Given the description of an element on the screen output the (x, y) to click on. 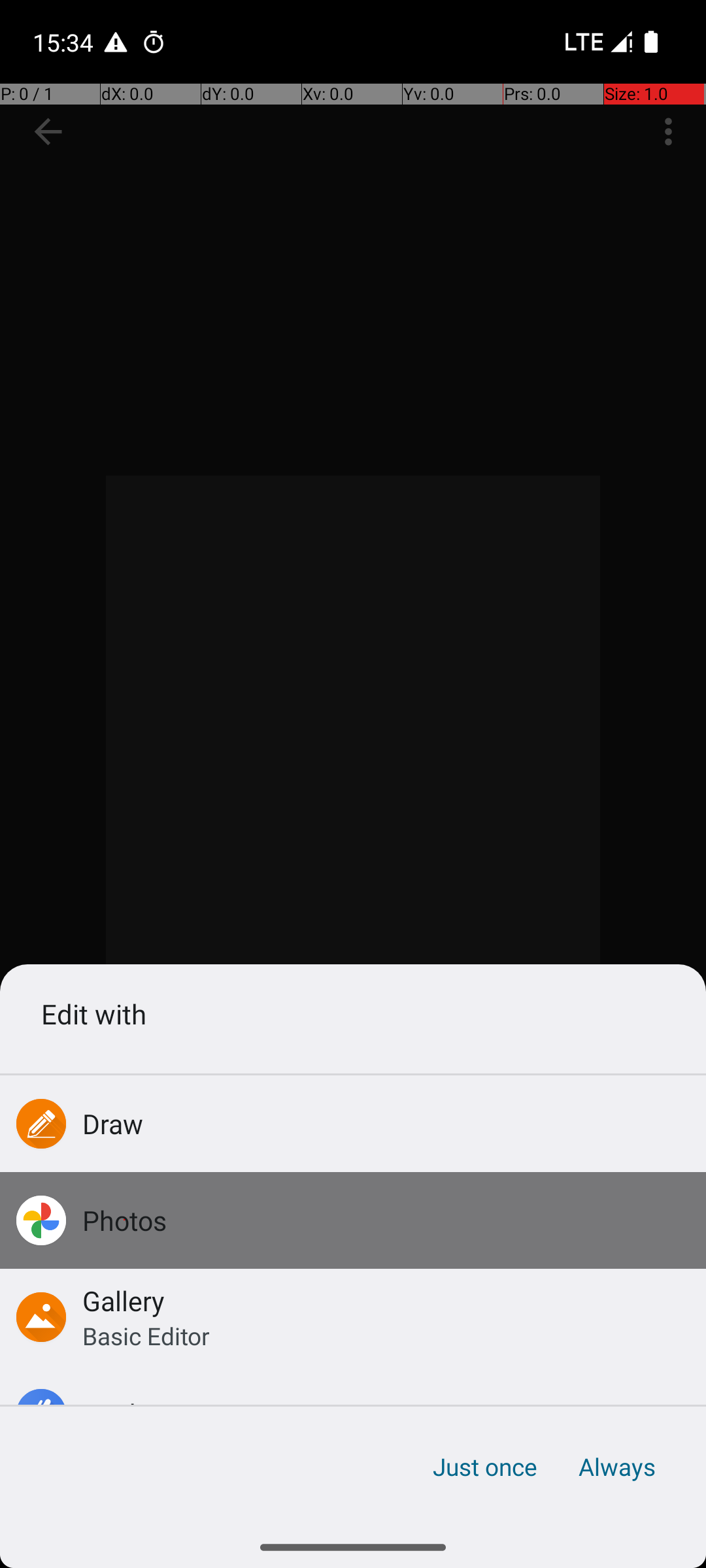
Edit with Element type: android.widget.TextView (352, 1013)
Just once Element type: android.widget.Button (484, 1466)
Always Element type: android.widget.Button (616, 1466)
Draw Element type: android.widget.TextView (112, 1123)
Gallery Element type: android.widget.TextView (123, 1300)
Basic Editor Element type: android.widget.TextView (146, 1335)
Markup Element type: android.widget.TextView (127, 1413)
